Given the description of an element on the screen output the (x, y) to click on. 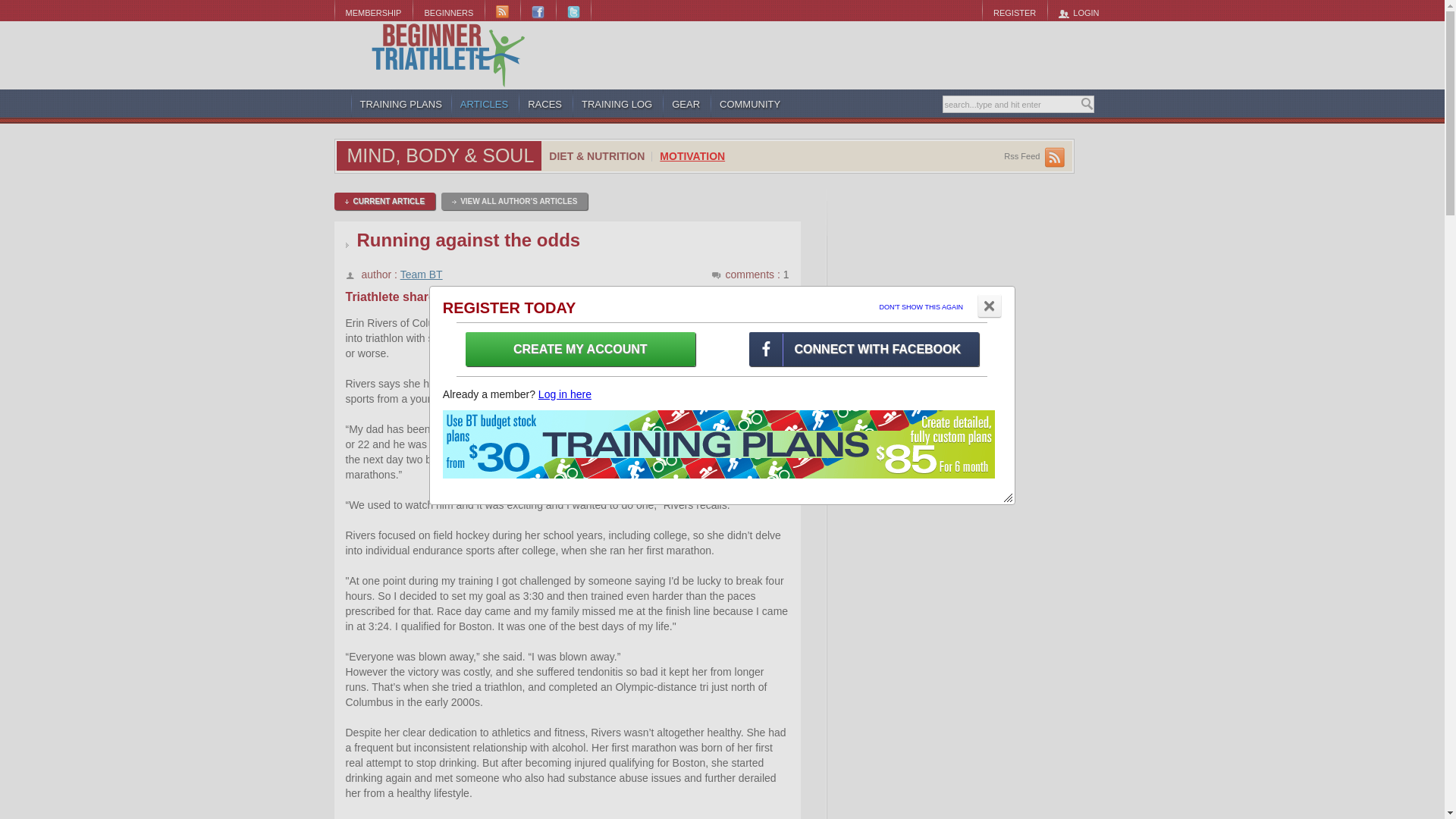
ARTICLES (484, 104)
LOGIN (1077, 12)
TRAINING LOG (616, 104)
MEMBERSHIP (372, 12)
RACES (545, 104)
REGISTER (1013, 12)
search...type and hit enter (1010, 104)
BEGINNERS (448, 12)
3rd party ad content (838, 55)
TRAINING PLANS (400, 104)
